Given the description of an element on the screen output the (x, y) to click on. 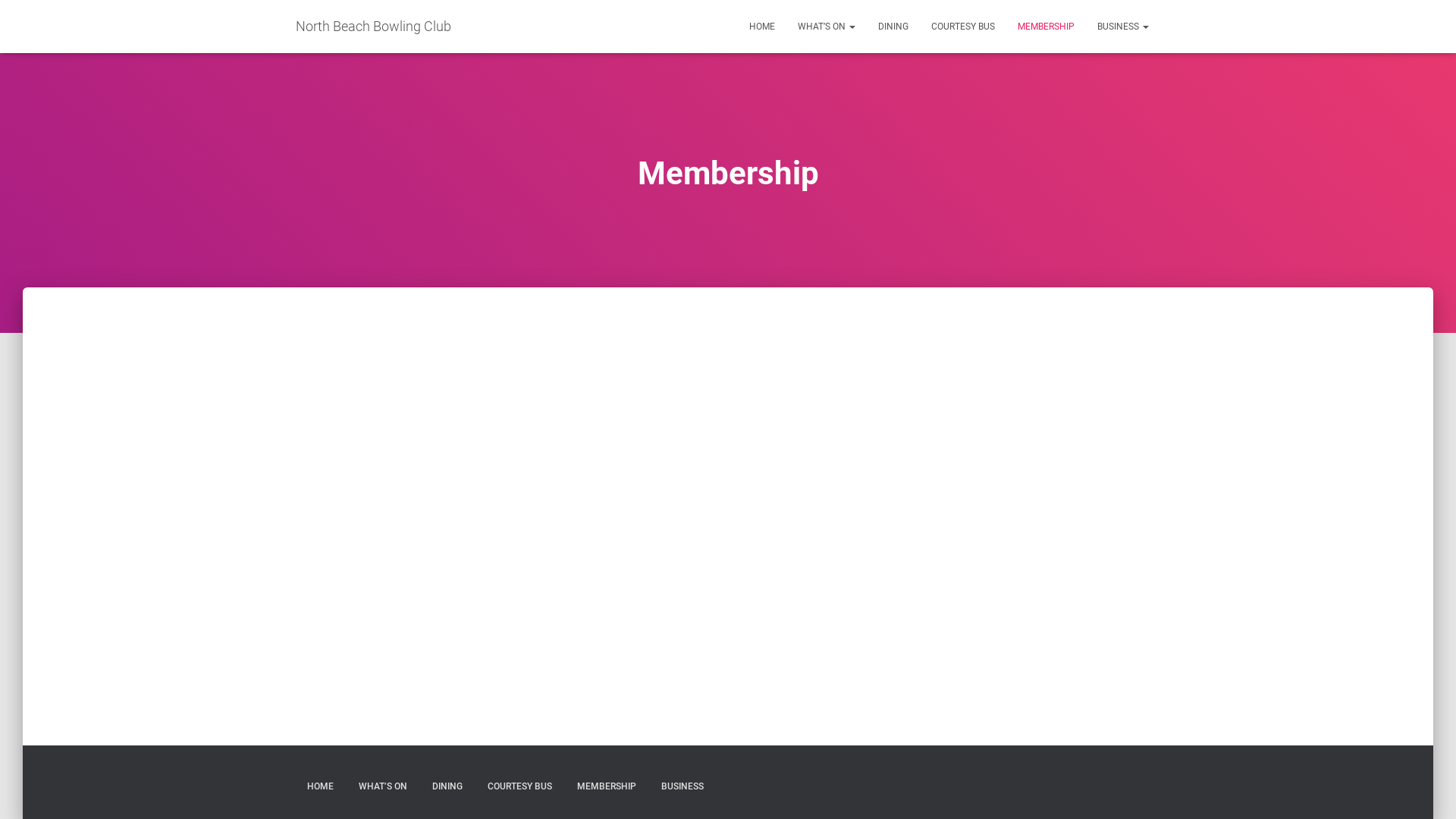
MEMBERSHIP Element type: text (606, 786)
BUSINESS Element type: text (1122, 26)
BUSINESS Element type: text (682, 786)
HOME Element type: text (761, 26)
DINING Element type: text (892, 26)
DINING Element type: text (446, 786)
COURTESY BUS Element type: text (519, 786)
MEMBERSHIP Element type: text (1045, 26)
HOME Element type: text (320, 786)
COURTESY BUS Element type: text (962, 26)
North Beach Bowling Club Element type: text (373, 26)
